Given the description of an element on the screen output the (x, y) to click on. 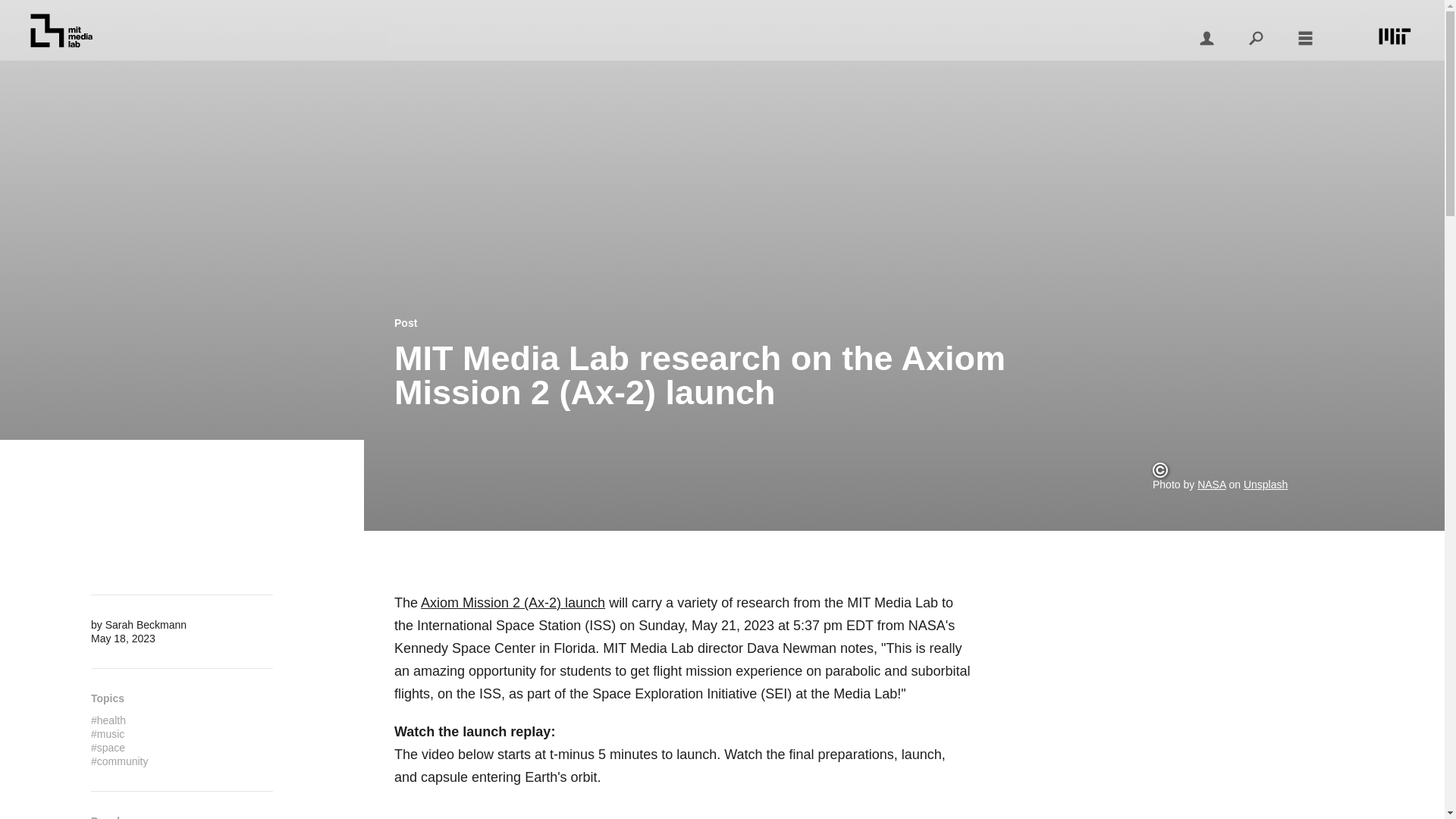
NASA (1210, 484)
Sarah Beckmann (145, 624)
Unsplash (1265, 484)
